Given the description of an element on the screen output the (x, y) to click on. 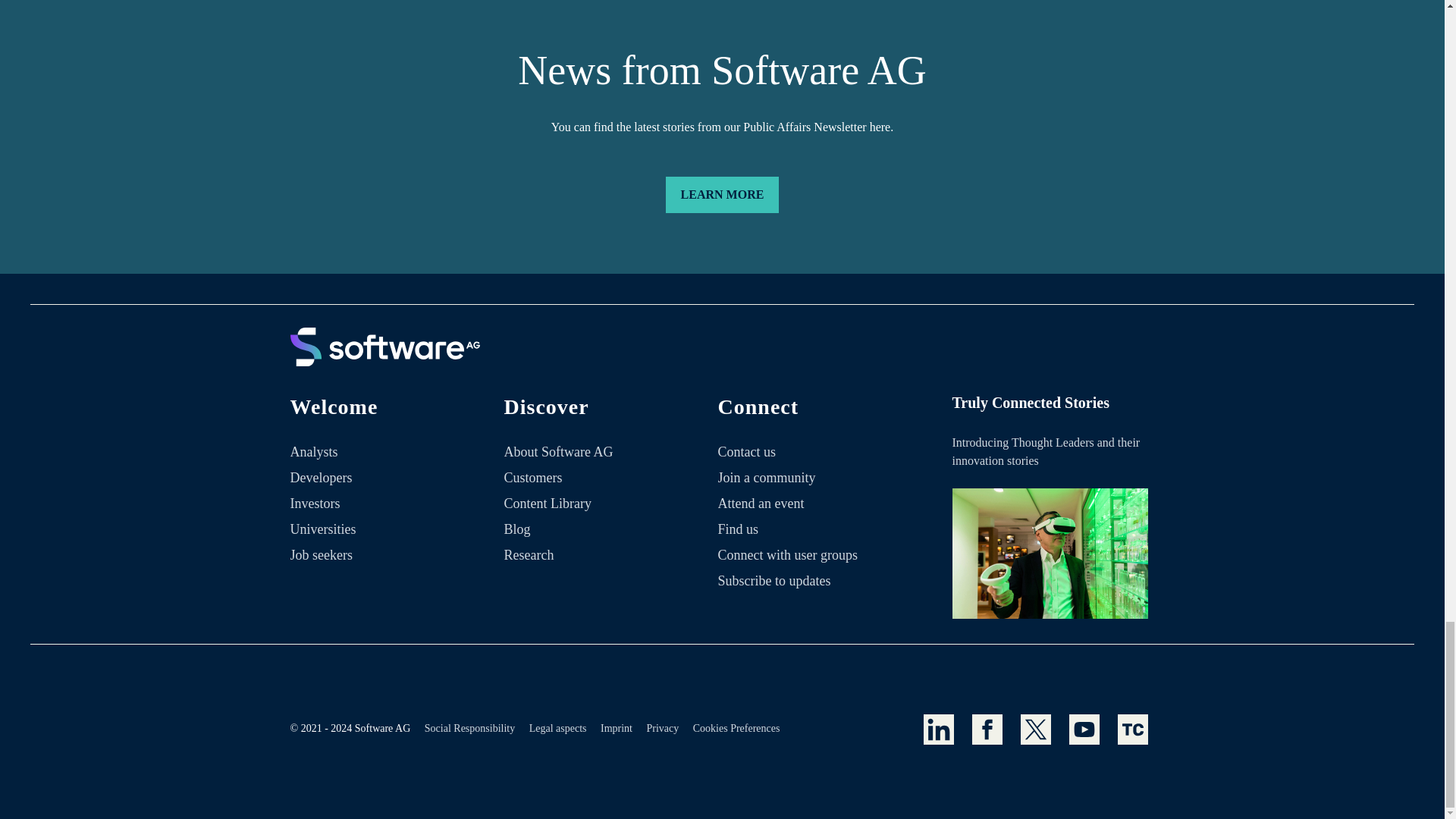
Content Library (547, 503)
Blog (517, 529)
Job seekers (320, 554)
LinkedIn (938, 729)
LEARN MORE (721, 194)
Truly Connected Stories (1050, 553)
Developers (320, 477)
Contact us (746, 451)
Discover (603, 414)
Research (528, 554)
Investors (314, 503)
Facebook (987, 729)
Customers (532, 477)
Connect (817, 414)
Join a community (766, 477)
